Given the description of an element on the screen output the (x, y) to click on. 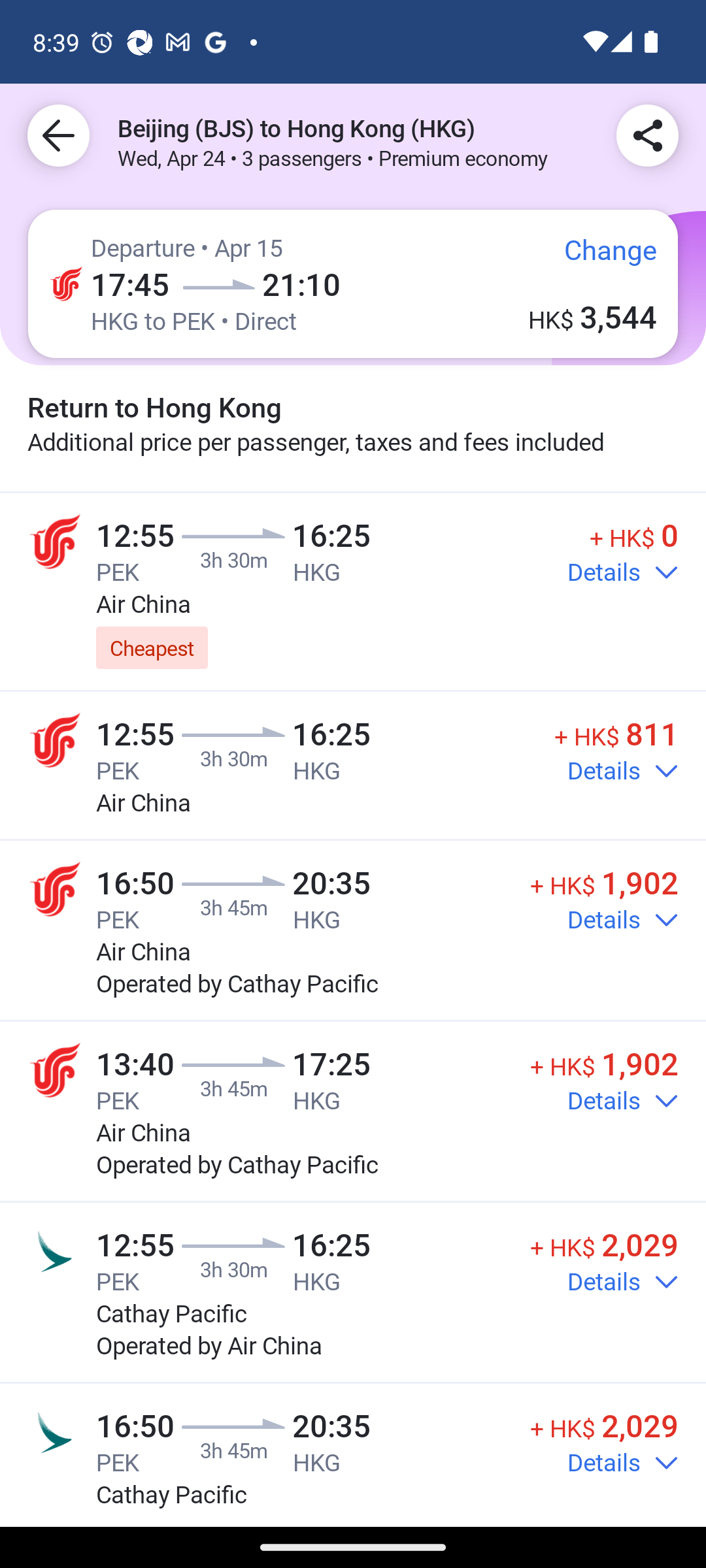
Change (596, 257)
